Given the description of an element on the screen output the (x, y) to click on. 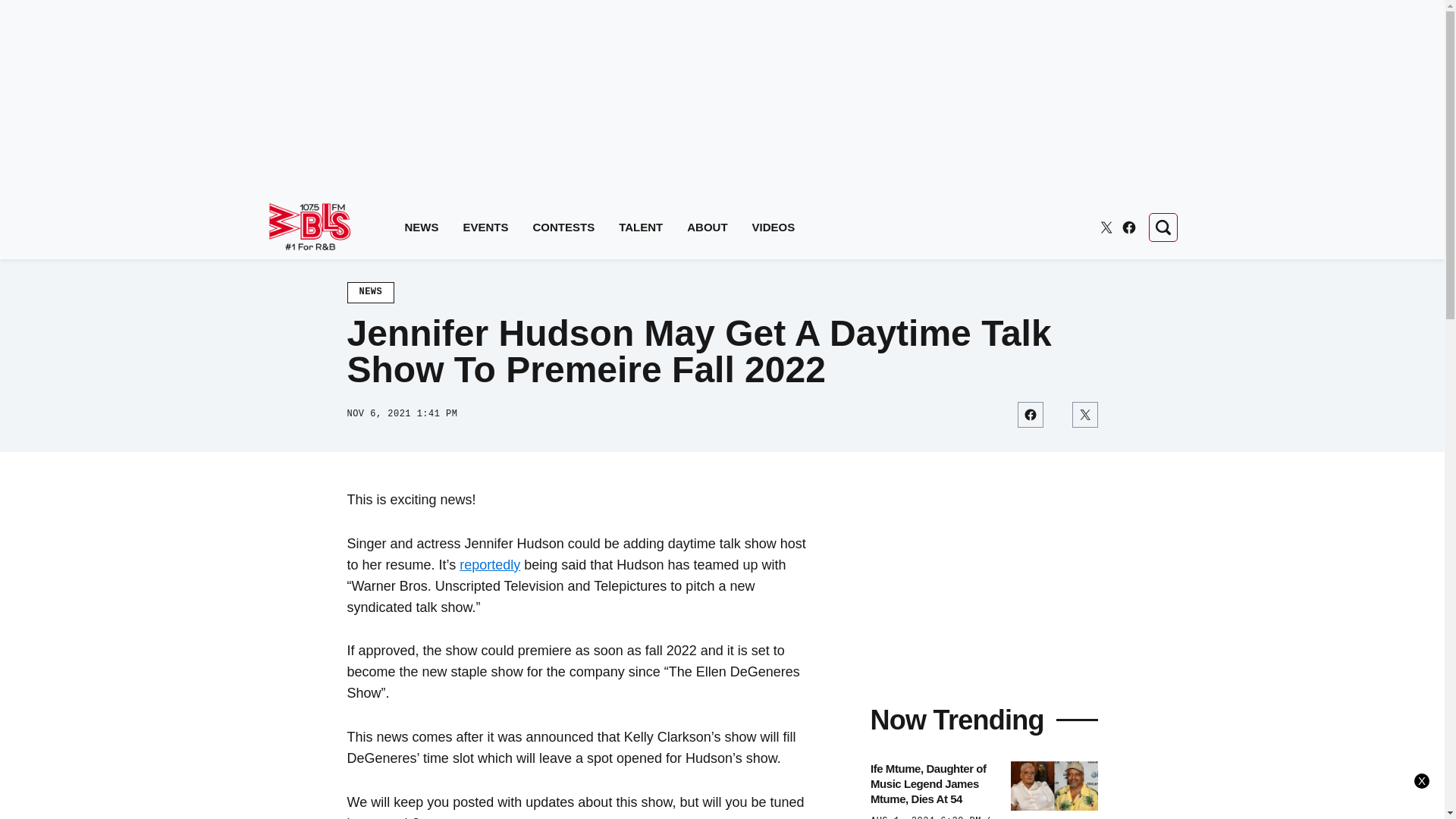
NEWS (421, 227)
Search (1162, 226)
TALENT (640, 227)
Facebook (1128, 227)
X (1105, 227)
ABOUT (706, 227)
EVENTS (485, 227)
CONTESTS (563, 227)
NEWS (370, 292)
reportedly (489, 564)
Ife Mtume, Daughter of Music Legend James Mtume, Dies At 54 (935, 783)
VIDEOS (773, 227)
